Given the description of an element on the screen output the (x, y) to click on. 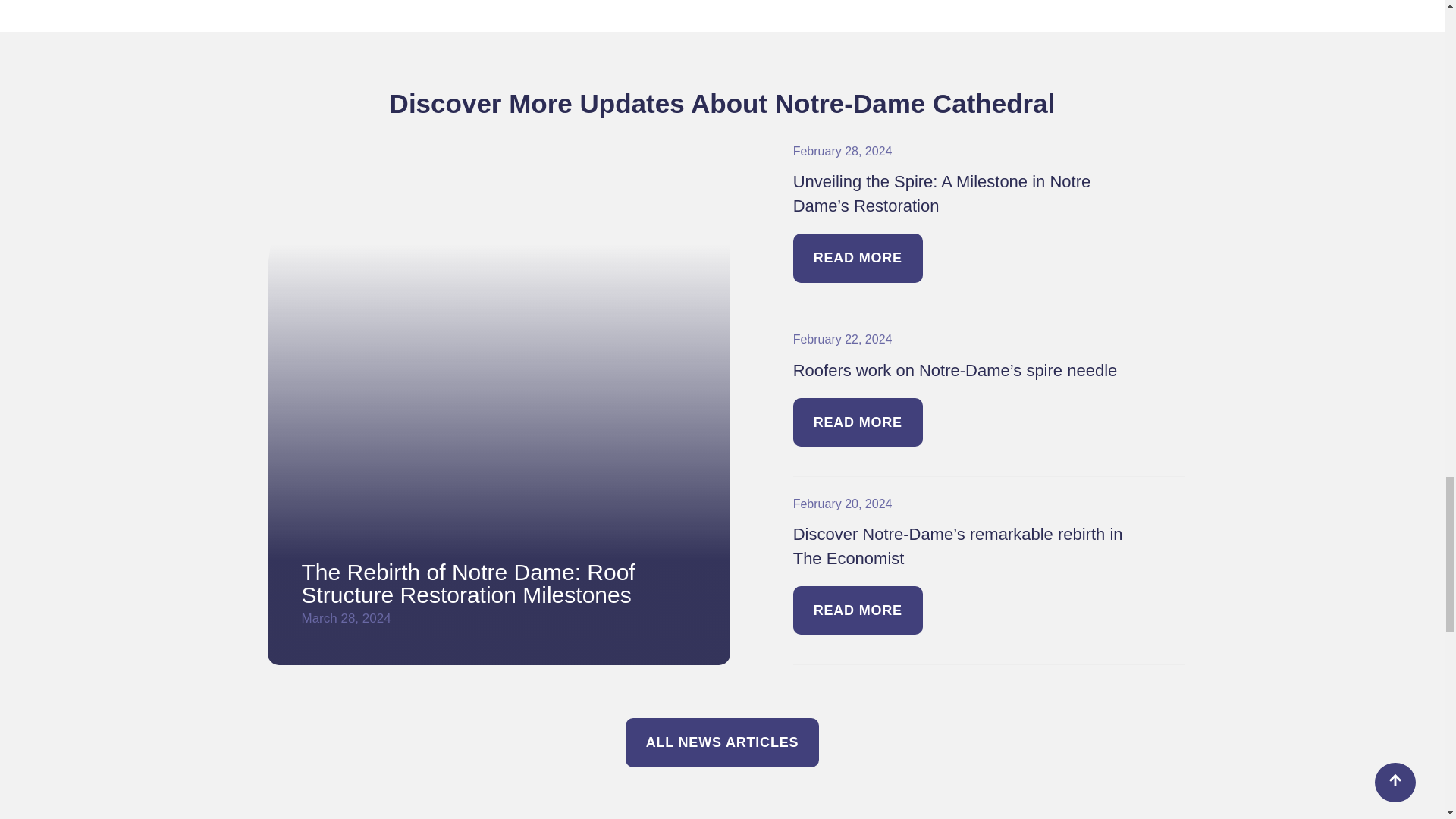
2024-03-28T10:00:10-04:00 (346, 617)
2024-02-22T10:05:37-05:00 (842, 338)
2024-02-20T18:41:05-05:00 (842, 503)
2024-02-28T03:33:00-05:00 (842, 151)
